Given the description of an element on the screen output the (x, y) to click on. 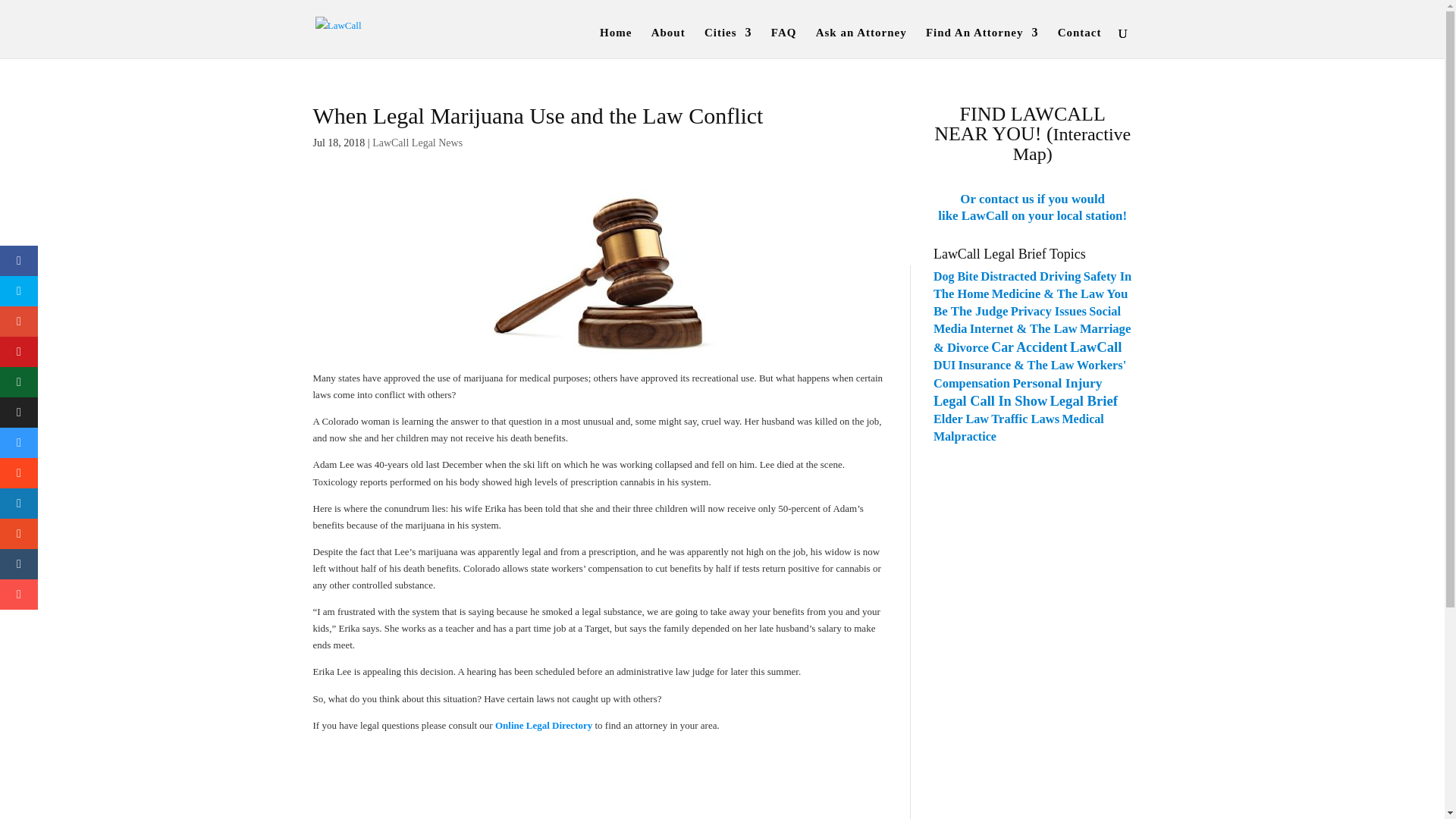
Home (615, 42)
Ask an Attorney (861, 42)
Online Legal Directory (543, 725)
Cities (728, 42)
Contact (1080, 42)
Find An Attorney (982, 42)
LawCall Legal News (417, 142)
About (667, 42)
